Given the description of an element on the screen output the (x, y) to click on. 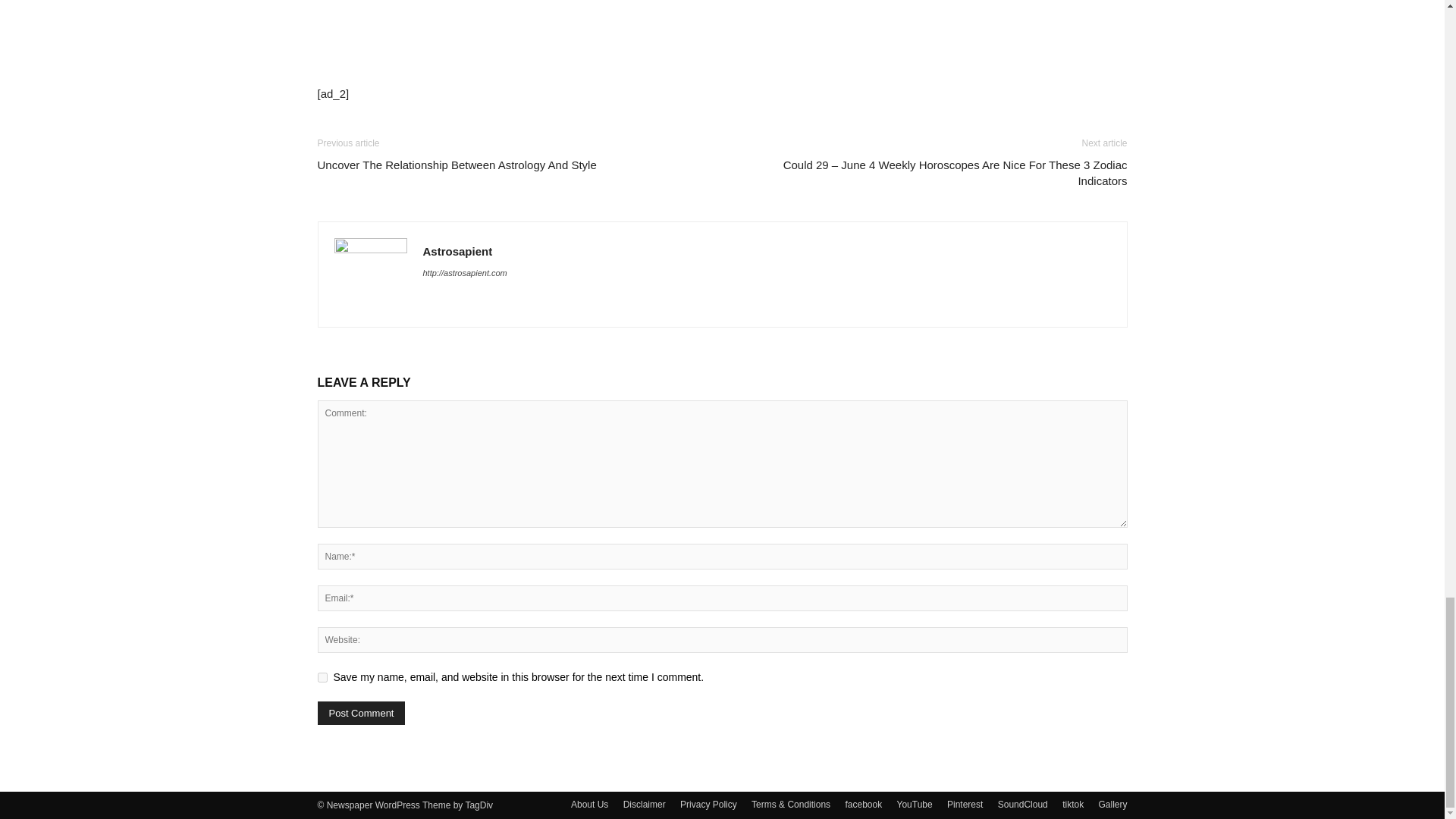
YouTube (914, 804)
Gallery (1111, 804)
Post Comment (360, 712)
Astrosapient (458, 250)
SoundCloud (1022, 804)
Pinterest (964, 804)
yes (321, 677)
Post Comment (360, 712)
tiktok (1072, 804)
About Us (589, 804)
facebook (863, 804)
Disclaimer (644, 804)
Privacy Policy (707, 804)
Uncover The Relationship Between Astrology And Style (456, 164)
